Given the description of an element on the screen output the (x, y) to click on. 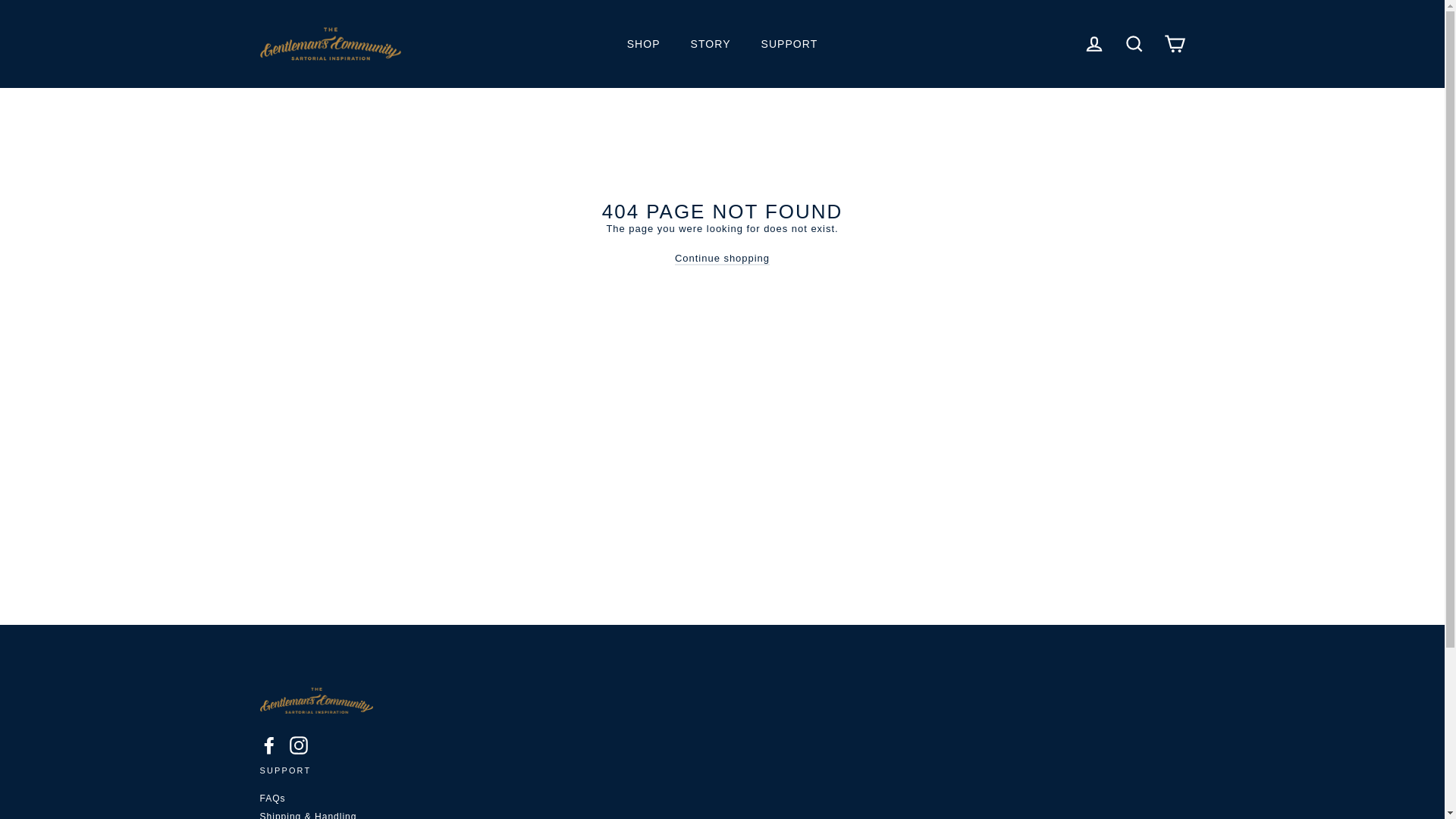
CART (1173, 43)
The Gentleman's Community on Facebook (268, 745)
Facebook (268, 745)
FAQs (722, 798)
SHOP (643, 44)
SUPPORT (788, 44)
LOG IN (1093, 43)
SEARCH (1134, 43)
Instagram (298, 745)
The Gentleman's Community on Instagram (298, 745)
Continue shopping (722, 258)
STORY (710, 44)
